Given the description of an element on the screen output the (x, y) to click on. 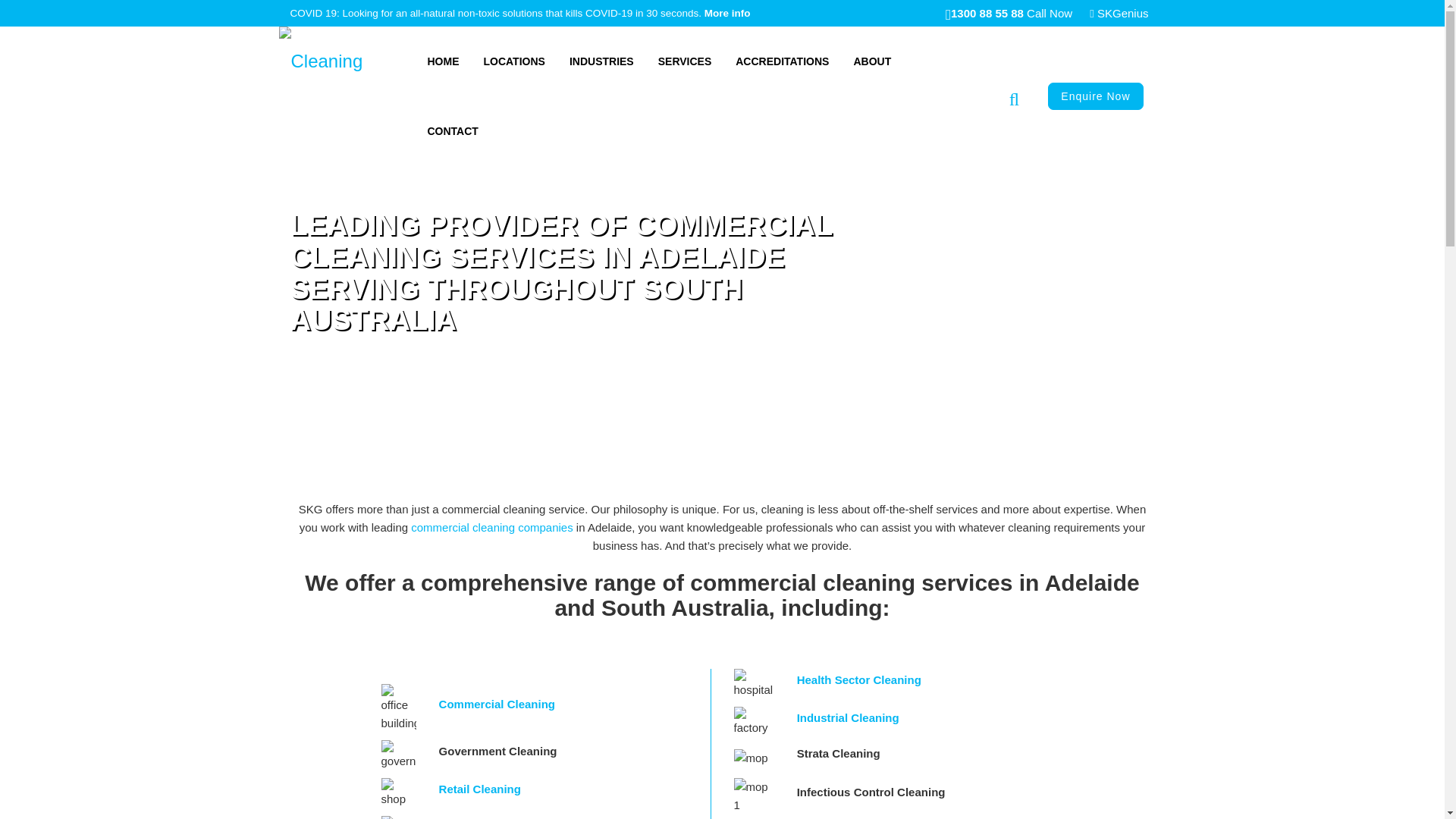
ABOUT Element type: text (871, 61)
Enquire Now Element type: text (1095, 95)
INDUSTRIES Element type: text (601, 61)
Health Sector Cleaning Element type: text (859, 679)
LOCATIONS Element type: text (514, 61)
CONTACT Element type: text (452, 131)
Industrial Cleaning Element type: text (848, 717)
1300 88 55 88 Call Now Element type: text (1008, 13)
Commercial Cleaning Element type: text (497, 703)
More info Element type: text (727, 12)
SKGenius Element type: text (1118, 13)
Retail Cleaning Element type: text (479, 788)
HOME Element type: text (443, 61)
ACCREDITATIONS Element type: text (781, 61)
commercial cleaning companies Element type: text (491, 526)
SERVICES Element type: text (685, 61)
